Given the description of an element on the screen output the (x, y) to click on. 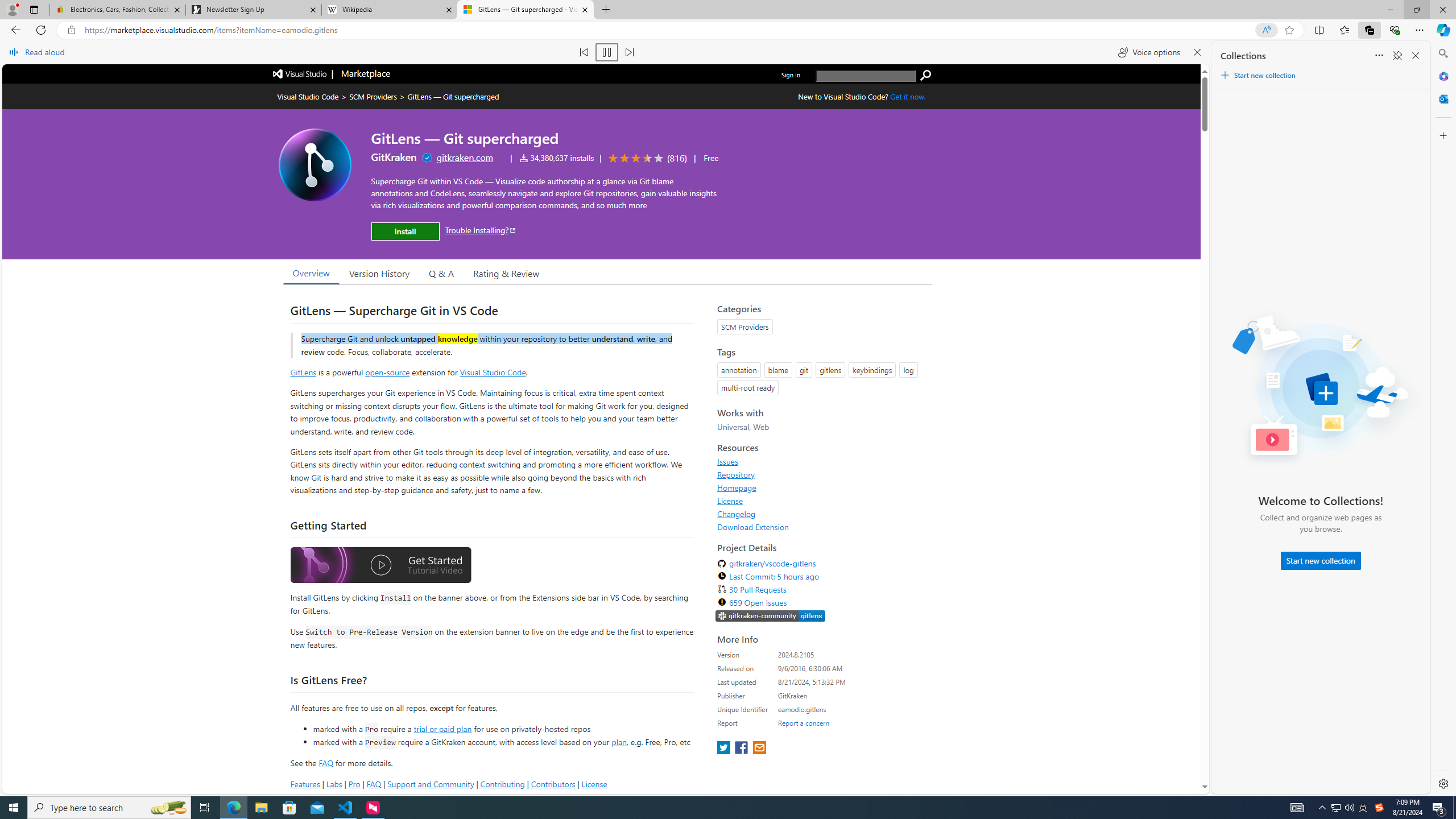
Contributors (552, 783)
FAQ (373, 783)
Close Collections (1415, 55)
Support and Community (430, 783)
Visual Studio Code (492, 371)
License (820, 500)
Issues (820, 461)
GitLens (303, 371)
gitkraken.com (464, 156)
